Given the description of an element on the screen output the (x, y) to click on. 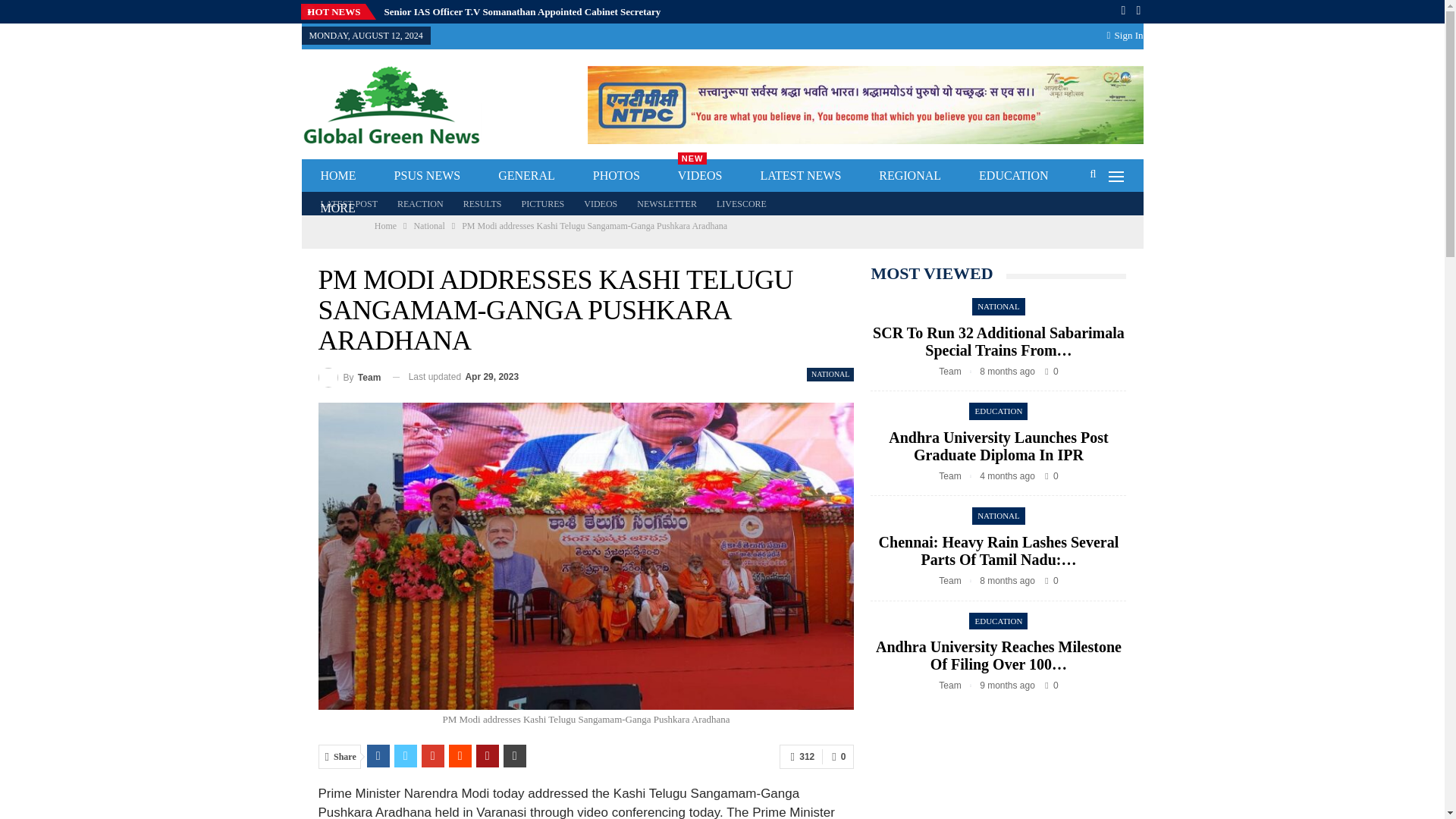
HOME (338, 174)
VIDEOS (600, 204)
RESULTS (482, 204)
Browse Author Articles (349, 376)
LATEST POST (348, 204)
Sign In (1124, 35)
REACTION (420, 204)
PICTURES (542, 204)
